Given the description of an element on the screen output the (x, y) to click on. 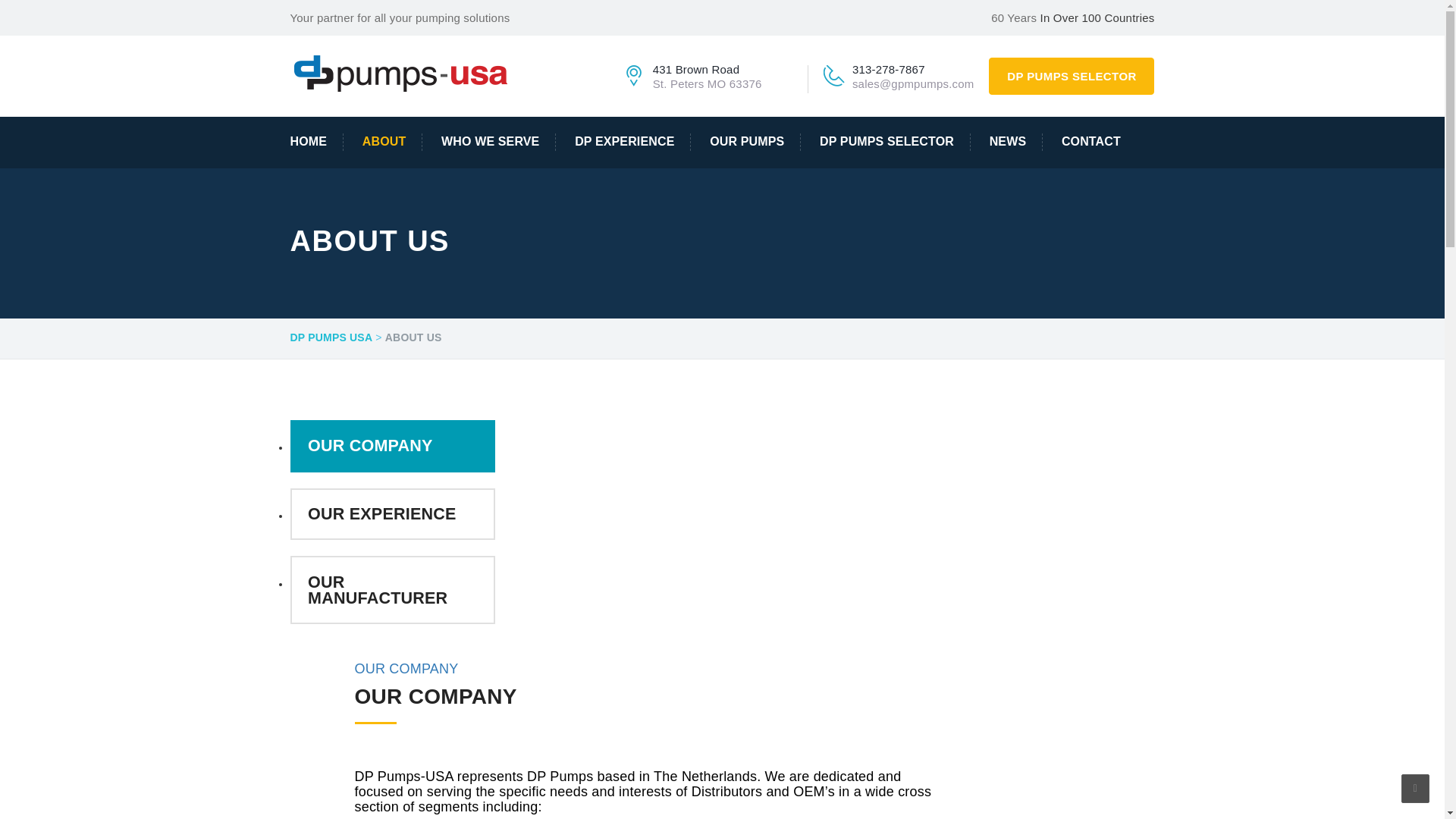
OUR PUMPS (747, 141)
NEWS (1008, 141)
OUR COMPANY (392, 445)
WHO WE SERVE (490, 141)
DP EXPERIENCE (624, 141)
DP PUMPS SELECTOR (887, 141)
HOME (315, 141)
CONTACT (1083, 141)
DP Pumps USA (402, 72)
OUR COMPANY (406, 668)
OUR EXPERIENCE (392, 513)
DP PUMPS USA (330, 337)
Go to DP Pumps USA. (330, 337)
OUR MANUFACTURER (392, 589)
DP PUMPS SELECTOR (1071, 76)
